Given the description of an element on the screen output the (x, y) to click on. 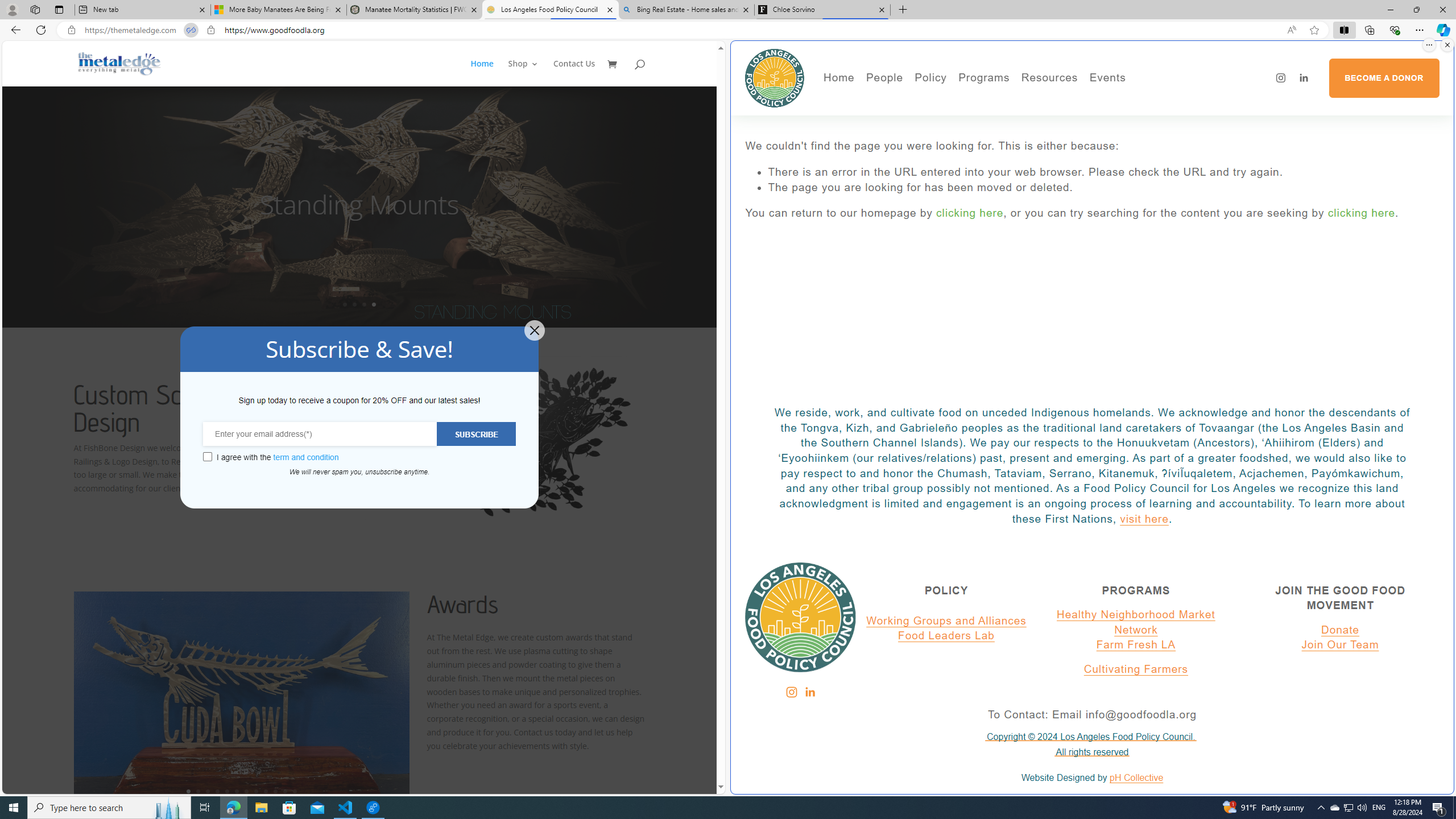
Donate (1339, 630)
Contact Us (574, 72)
Contact Us (574, 72)
Class: wcb-gdpr-checkbox (207, 456)
New Tab (903, 9)
Minimize (1390, 9)
People (922, 116)
Programs (984, 77)
Add this page to favorites (Ctrl+D) (1314, 29)
4 (217, 790)
Los Angeles Food Policy Council (774, 77)
Policy (930, 77)
